Given the description of an element on the screen output the (x, y) to click on. 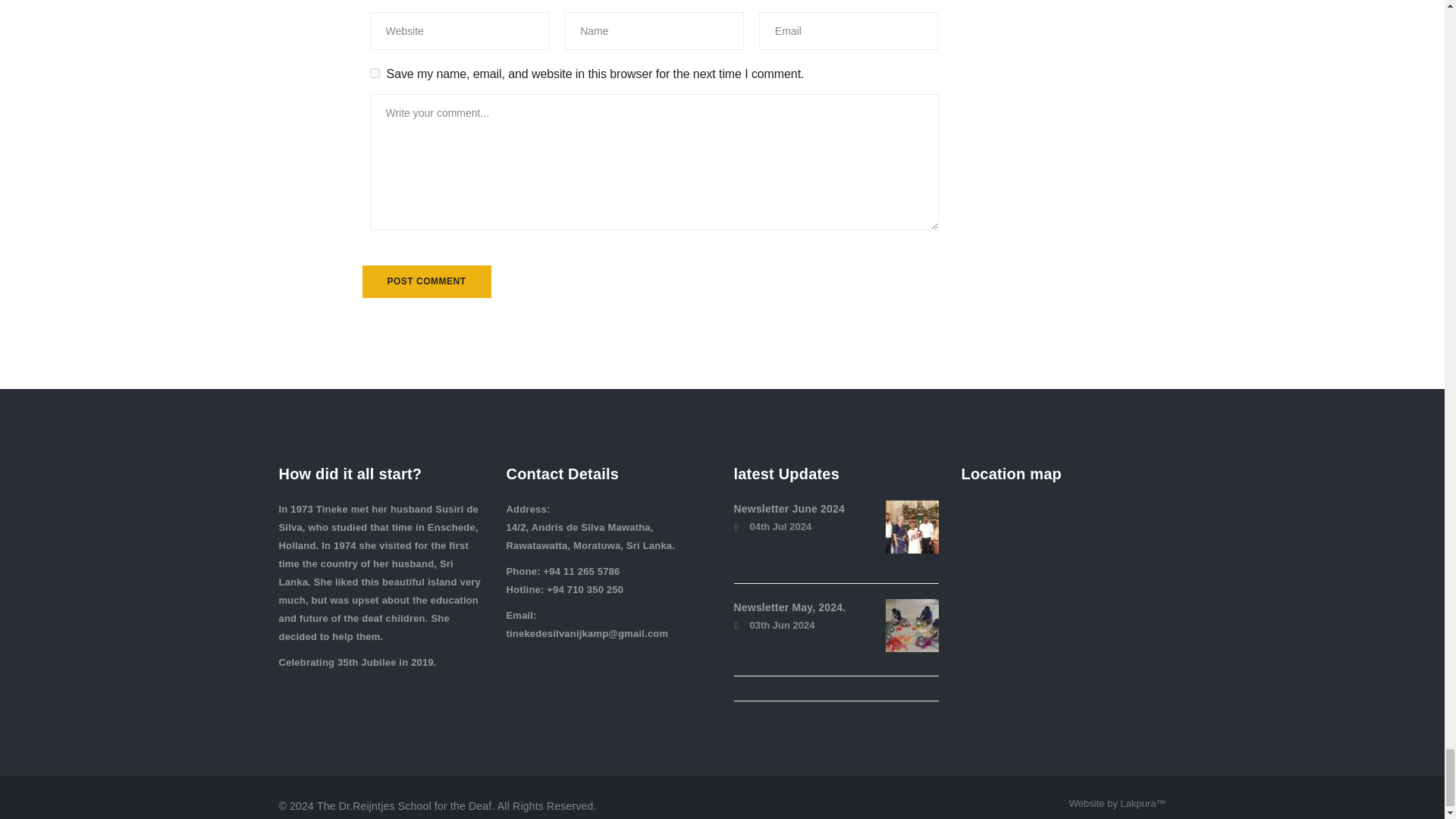
Post Comment (427, 281)
yes (374, 72)
